Given the description of an element on the screen output the (x, y) to click on. 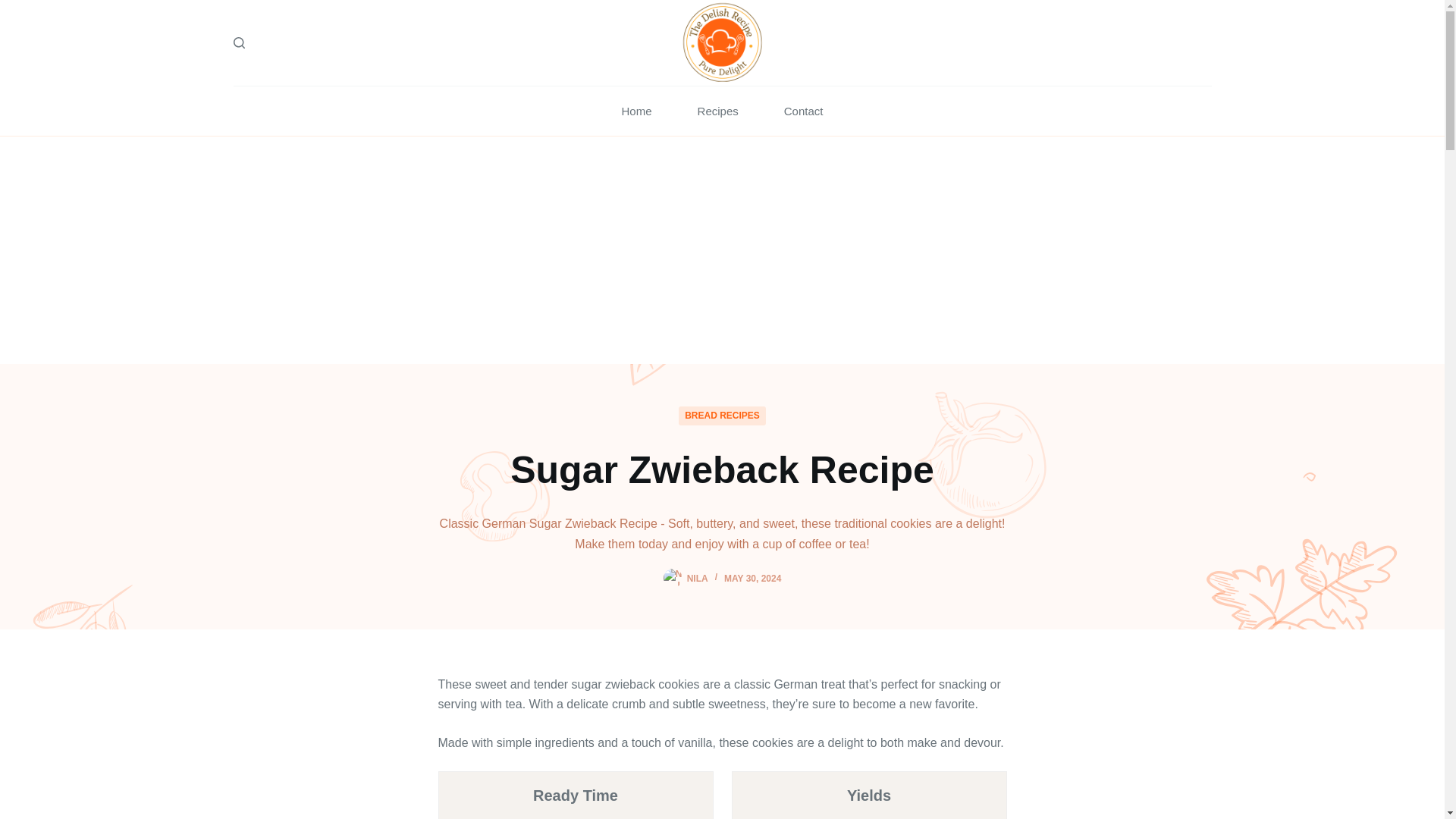
Contact (803, 110)
Skip to content (15, 7)
Recipes (718, 110)
Sugar Zwieback Recipe (722, 470)
Posts by Nila (697, 578)
NILA (697, 578)
Home (636, 110)
BREAD RECIPES (721, 415)
